Given the description of an element on the screen output the (x, y) to click on. 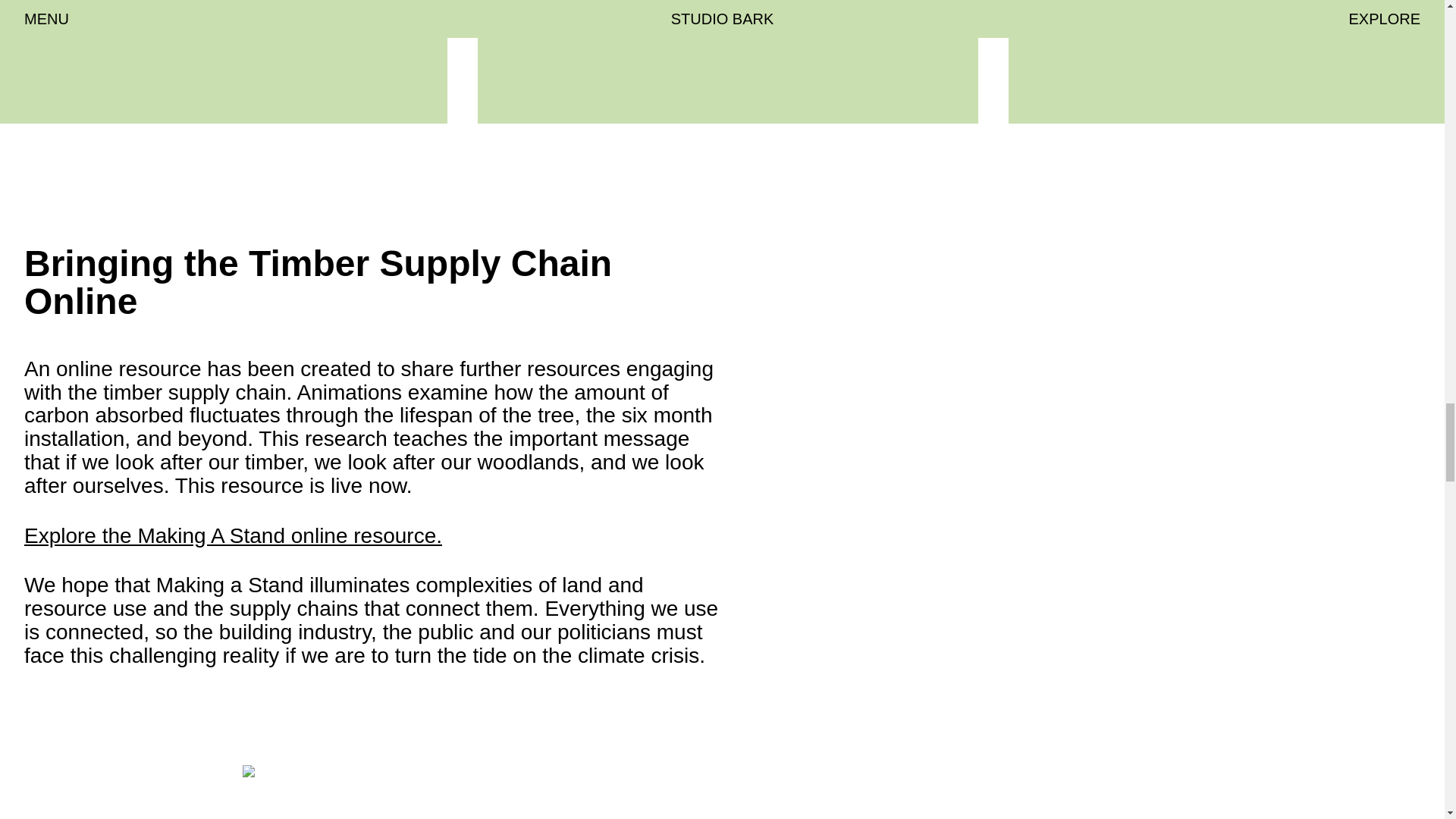
Explore the Making A Stand online resource. (233, 535)
